Given the description of an element on the screen output the (x, y) to click on. 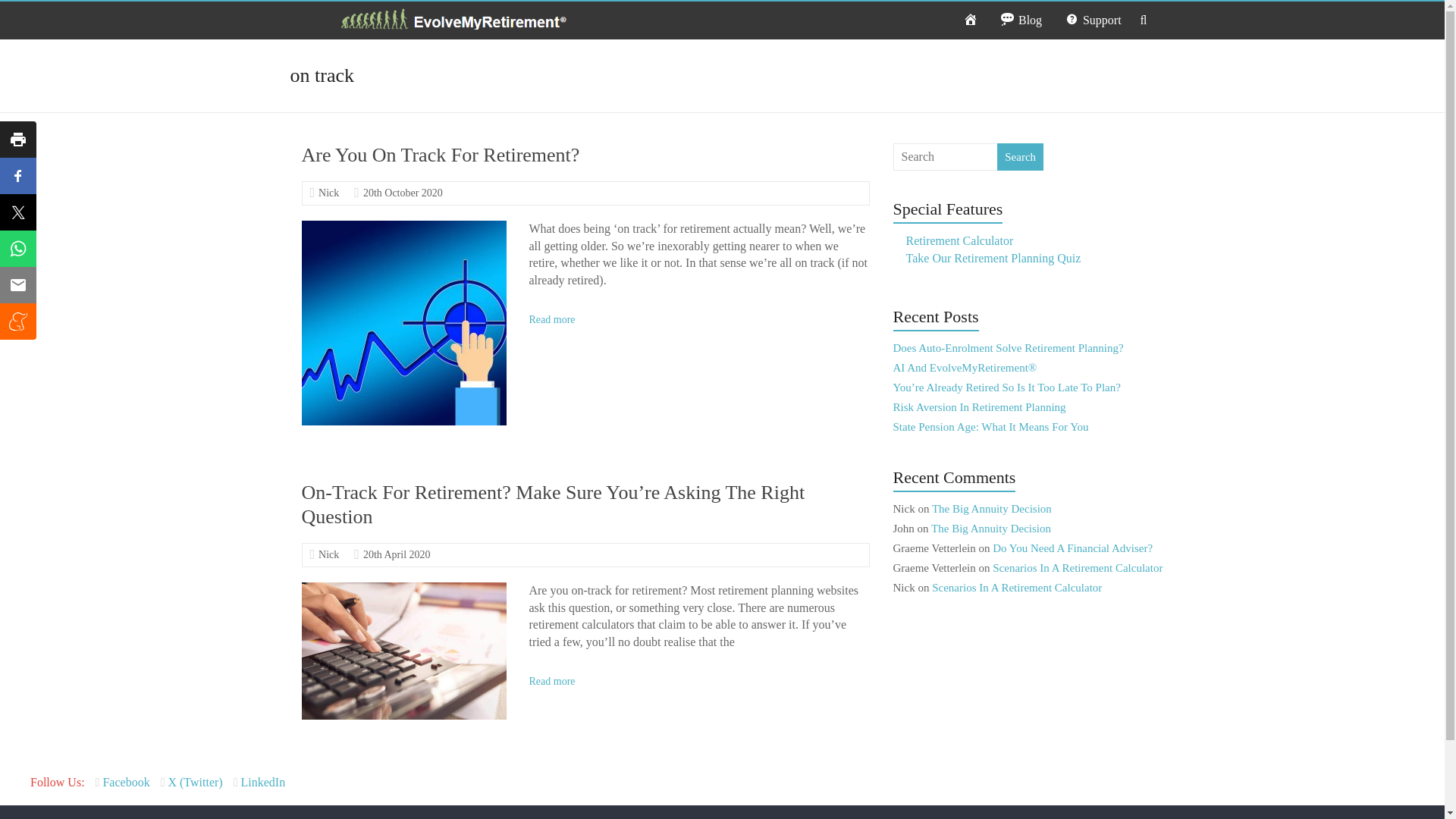
Scenarios In A Retirement Calculator (1076, 567)
20th April 2020 (396, 554)
Nick (328, 554)
Scenarios In A Retirement Calculator (1016, 587)
State Pension Age: What It Means For You (991, 426)
Are You On Track For Retirement? (403, 227)
Blog (1021, 20)
Does Auto-Enrolment Solve Retirement Planning? (1008, 347)
Facebook (124, 781)
Retirement Calculator (959, 240)
Are You On Track For Retirement? (440, 155)
Support (1092, 20)
Do You Need A Financial Adviser? (1072, 548)
Search (1020, 156)
20th October 2020 (402, 193)
